Given the description of an element on the screen output the (x, y) to click on. 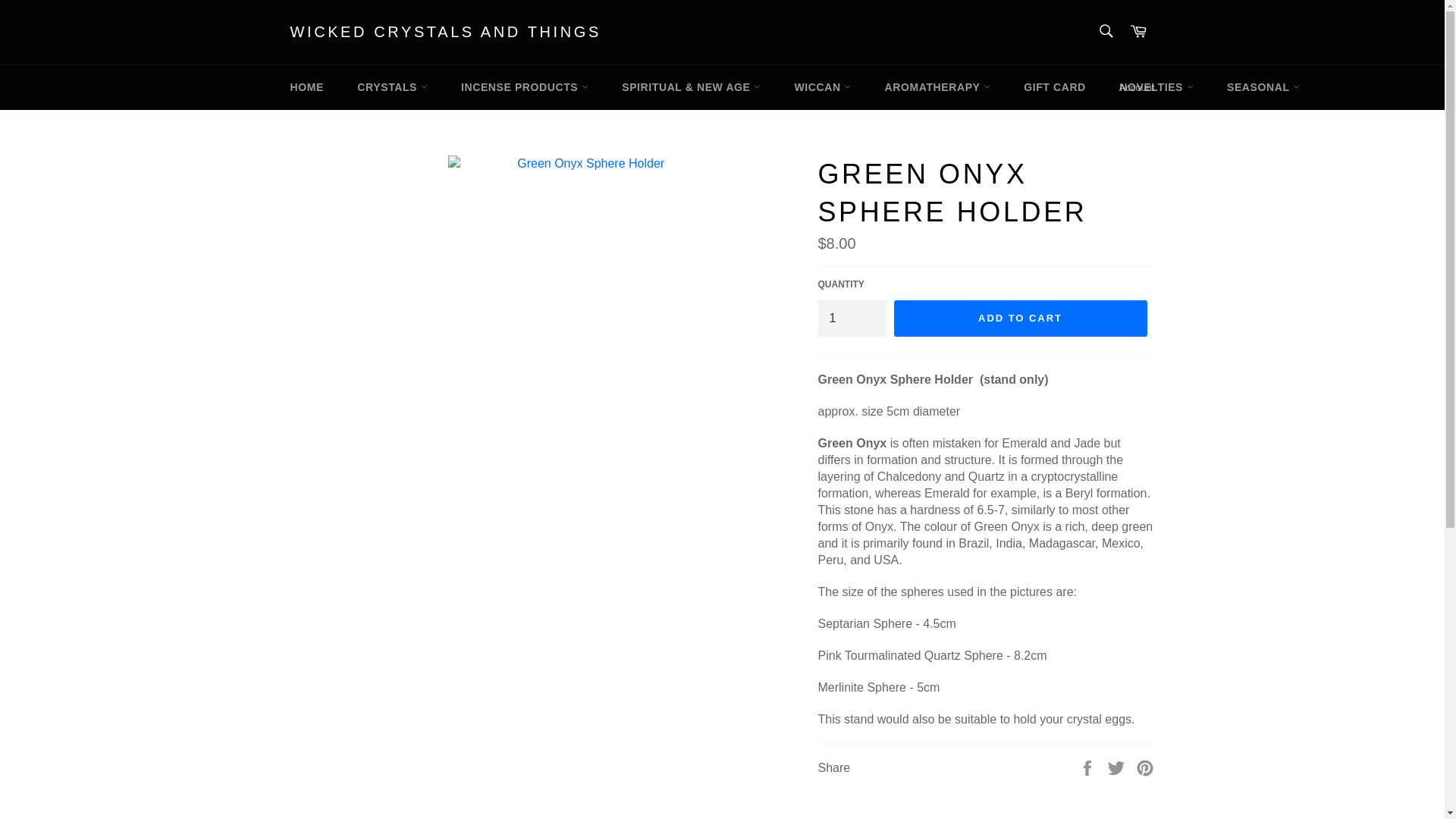
Share on Facebook (1088, 767)
Pin on Pinterest (1144, 767)
1 (850, 318)
Tweet on Twitter (1117, 767)
